Given the description of an element on the screen output the (x, y) to click on. 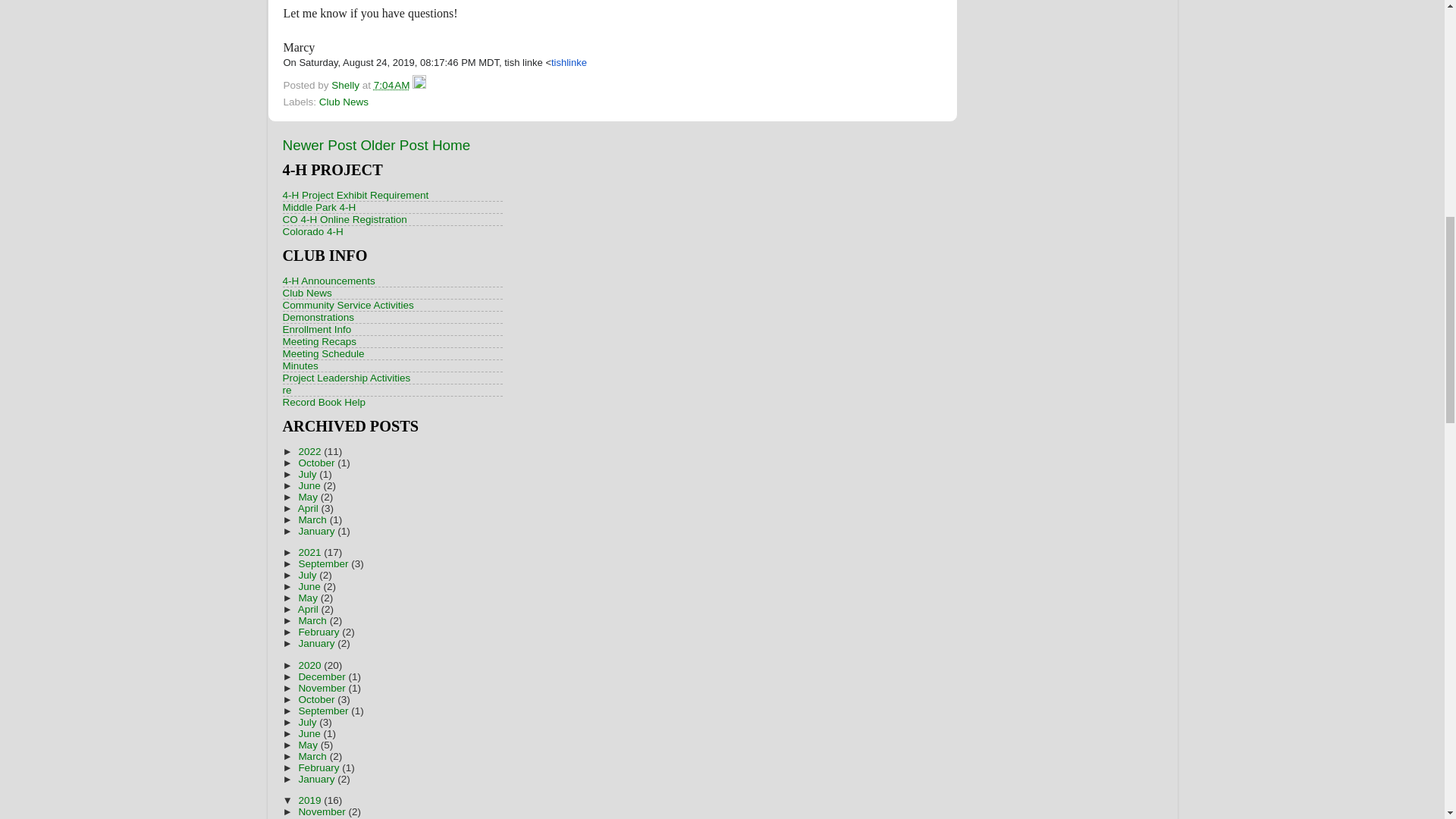
Project Leadership Activities (346, 378)
Record Book Help (323, 401)
4-H Announcements (328, 280)
July (308, 473)
Minutes (299, 365)
Enrollment Info (316, 328)
Older Post (393, 145)
October (317, 462)
Older Post (393, 145)
2022 (310, 451)
